Given the description of an element on the screen output the (x, y) to click on. 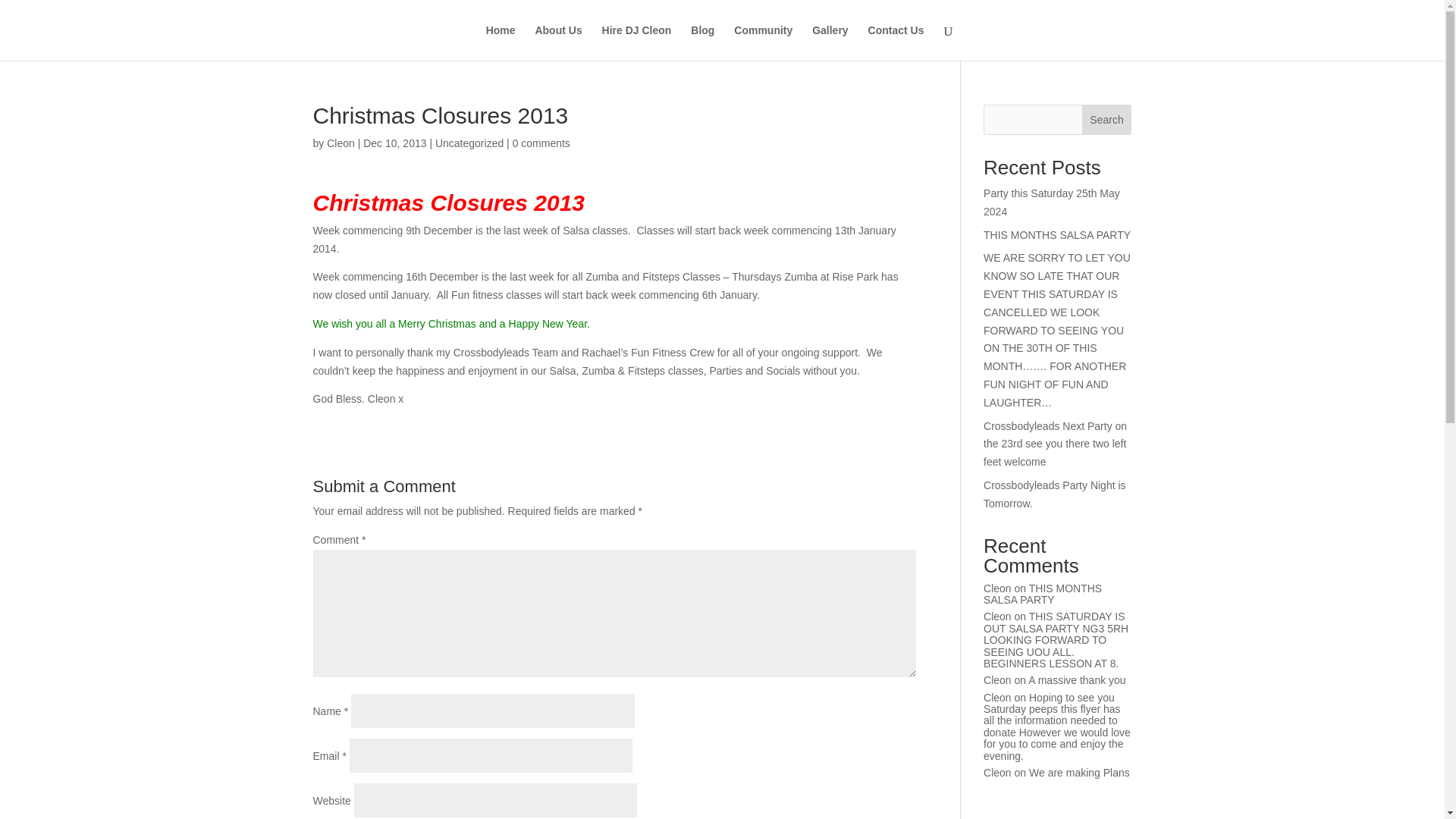
Posts by Cleon (340, 143)
Cleon (997, 588)
We are making Plans (1079, 772)
Cleon (997, 697)
Crossbodyleads Party Night is Tomorrow. (1054, 494)
Blog (702, 42)
Cleon (340, 143)
Search (1106, 119)
Cleon (997, 616)
Party this Saturday 25th May 2024 (1051, 202)
Gallery (829, 42)
Contact Us (895, 42)
